Given the description of an element on the screen output the (x, y) to click on. 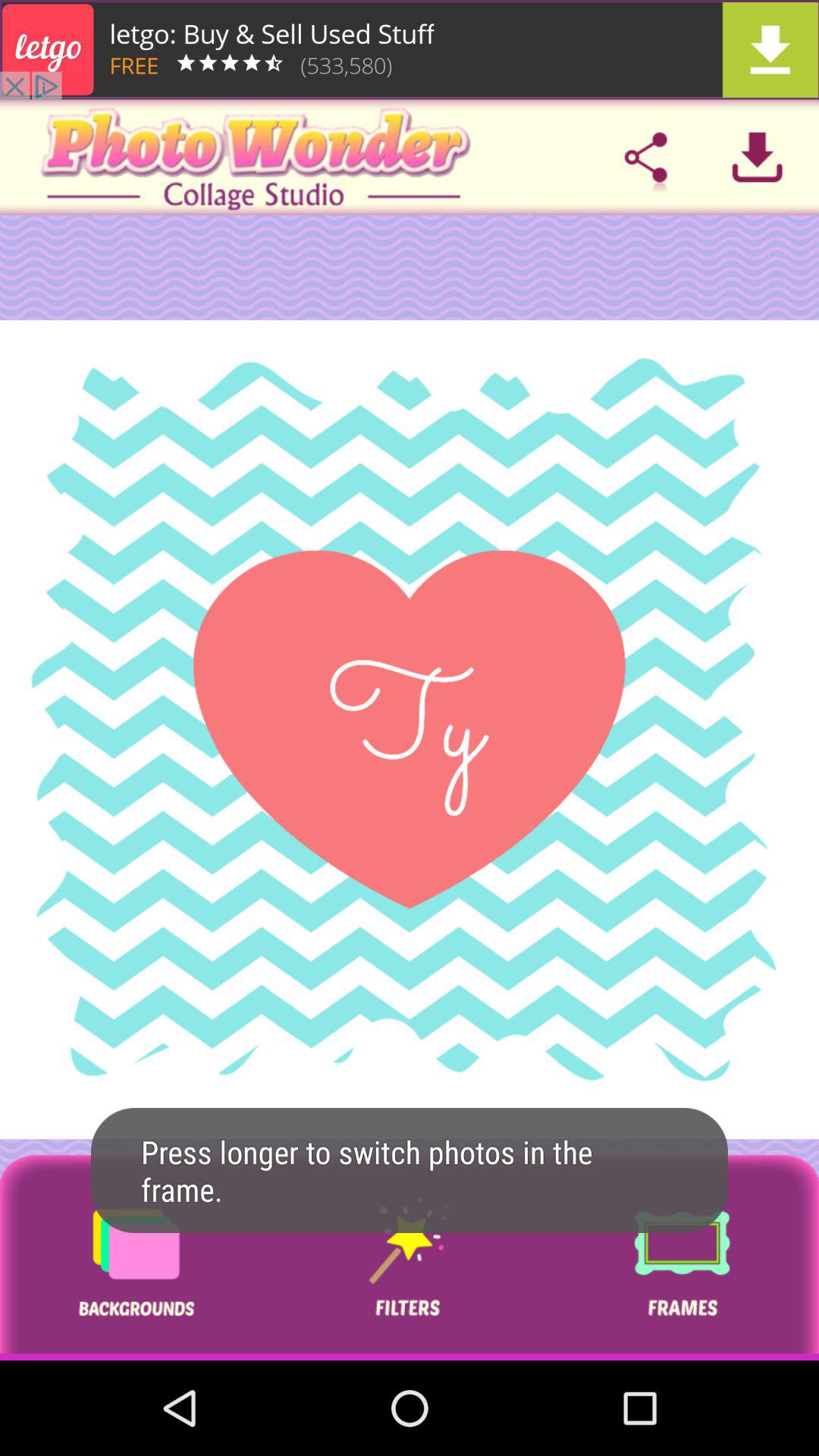
download image (757, 157)
